Given the description of an element on the screen output the (x, y) to click on. 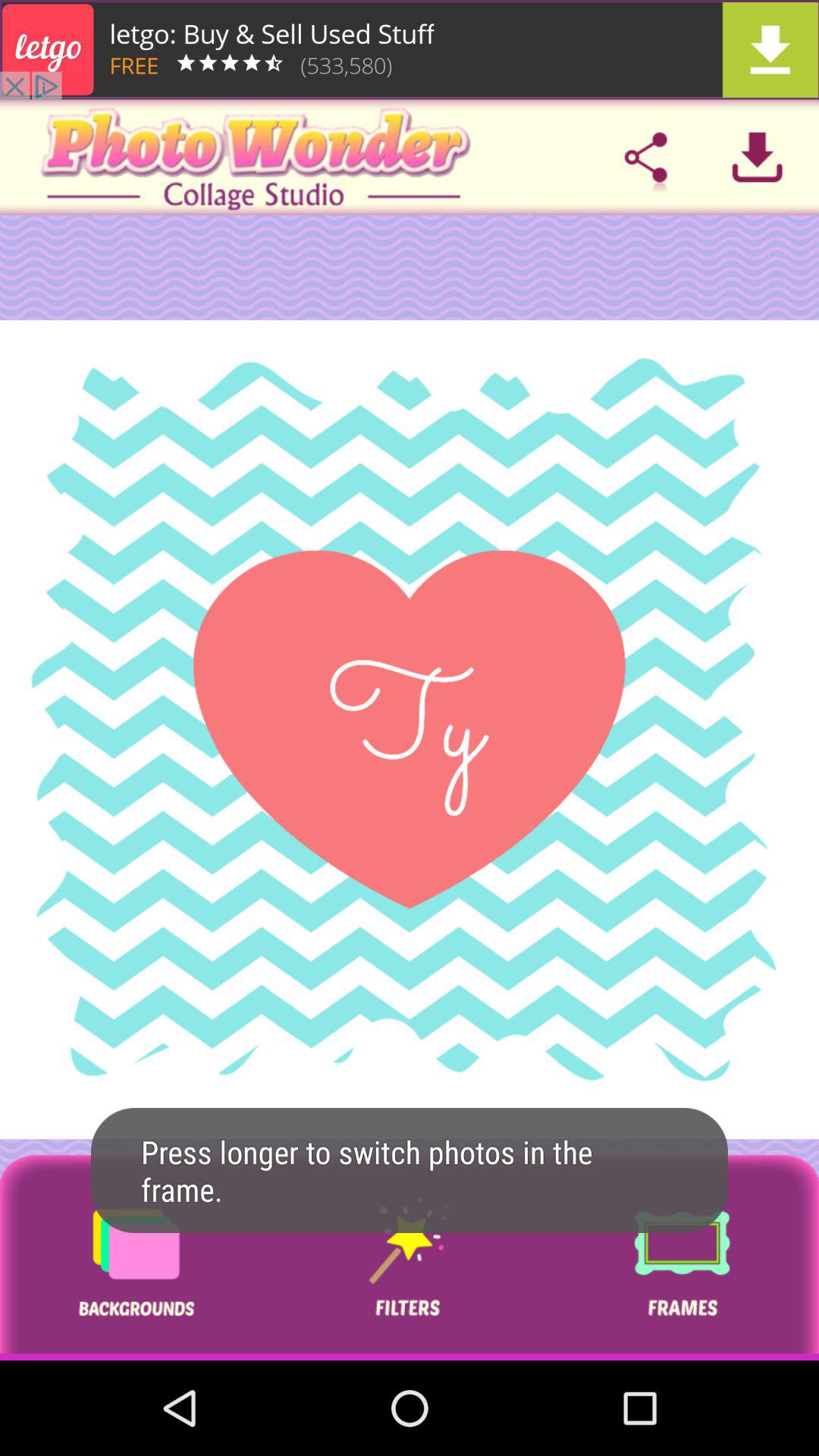
download image (757, 157)
